Given the description of an element on the screen output the (x, y) to click on. 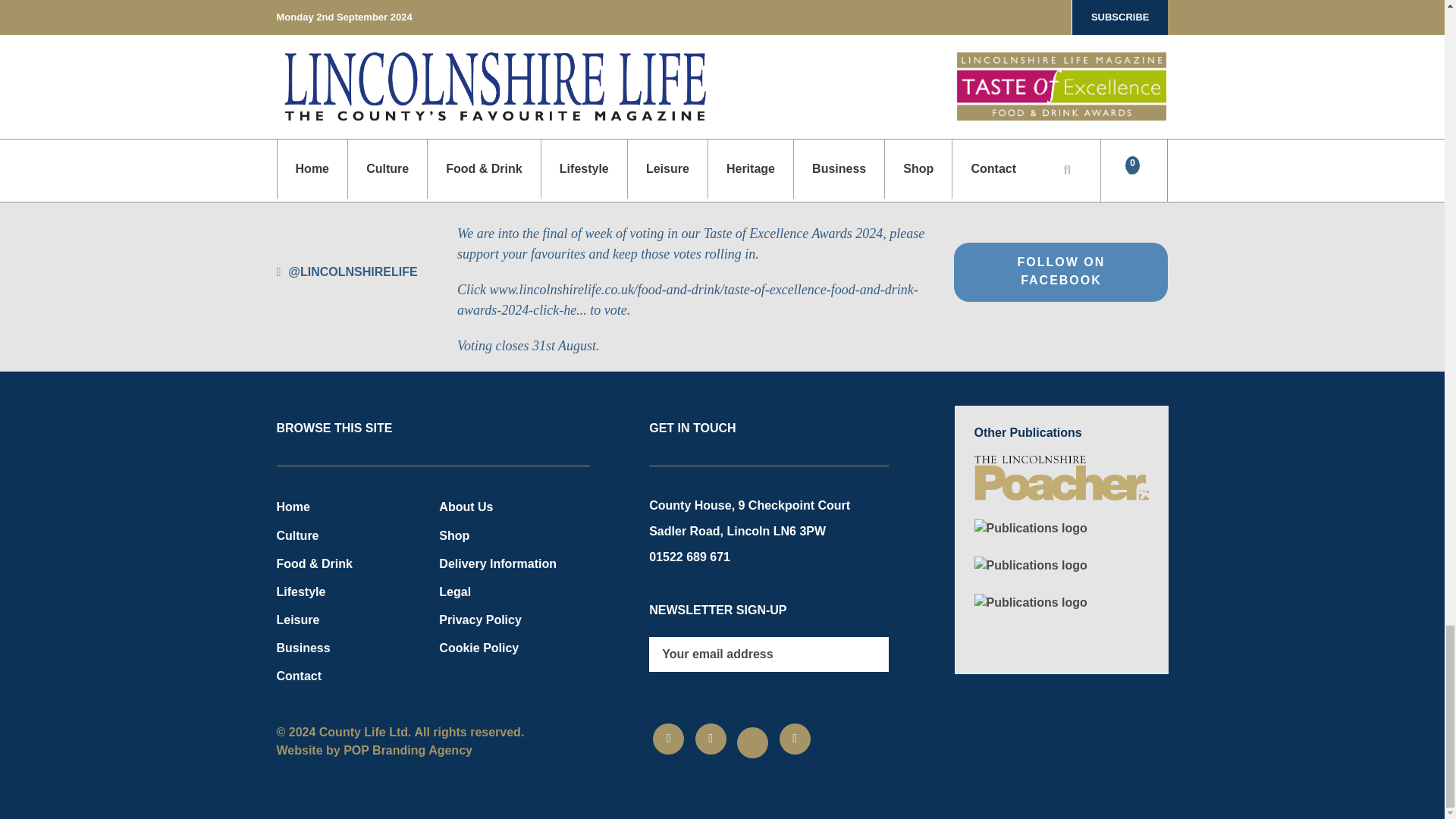
Twitter (752, 742)
POP Branding Agency (407, 749)
Instagram (710, 738)
Email (794, 738)
Facebook (668, 738)
